Given the description of an element on the screen output the (x, y) to click on. 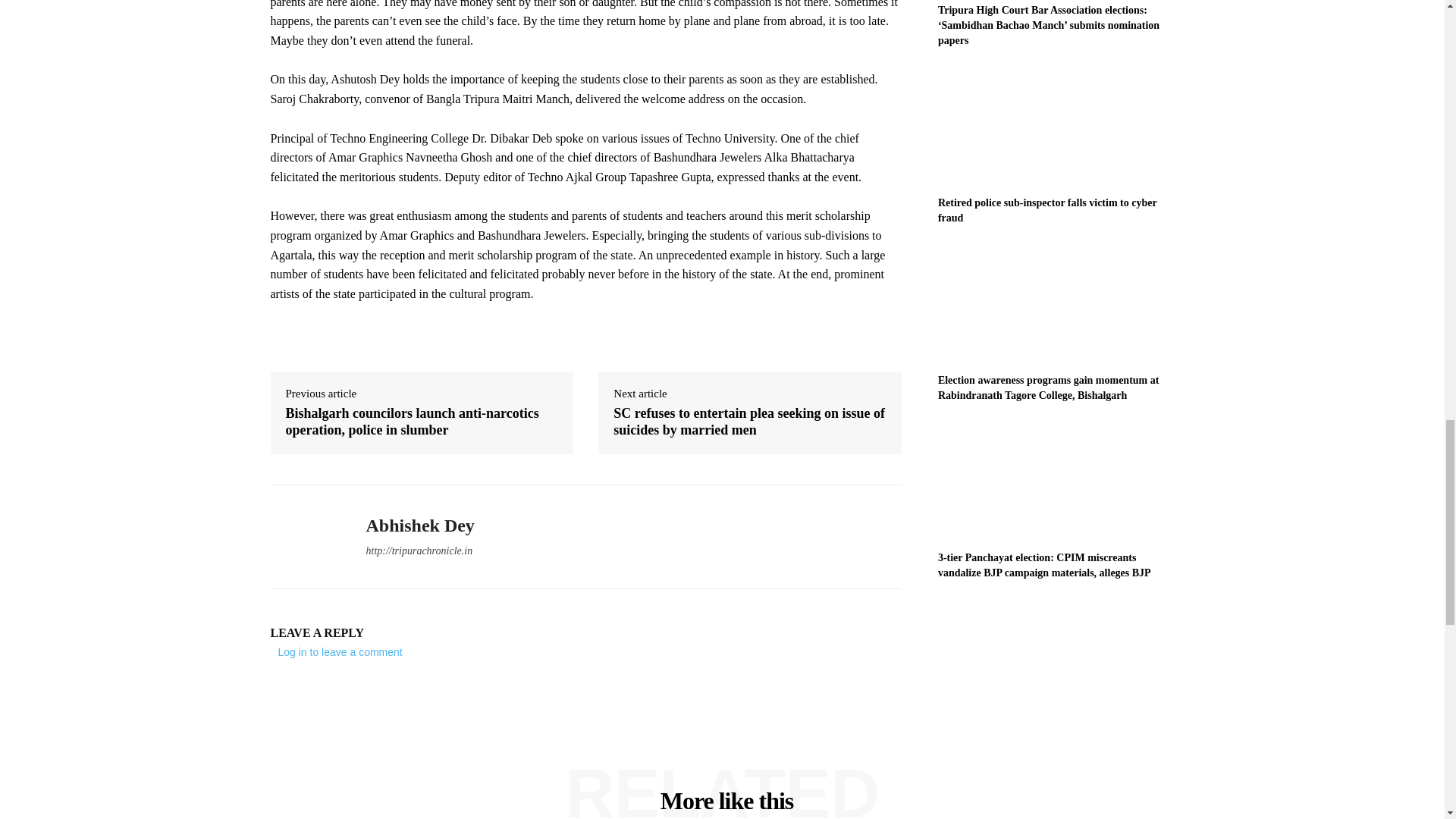
Abhishek Dey (305, 536)
